Given the description of an element on the screen output the (x, y) to click on. 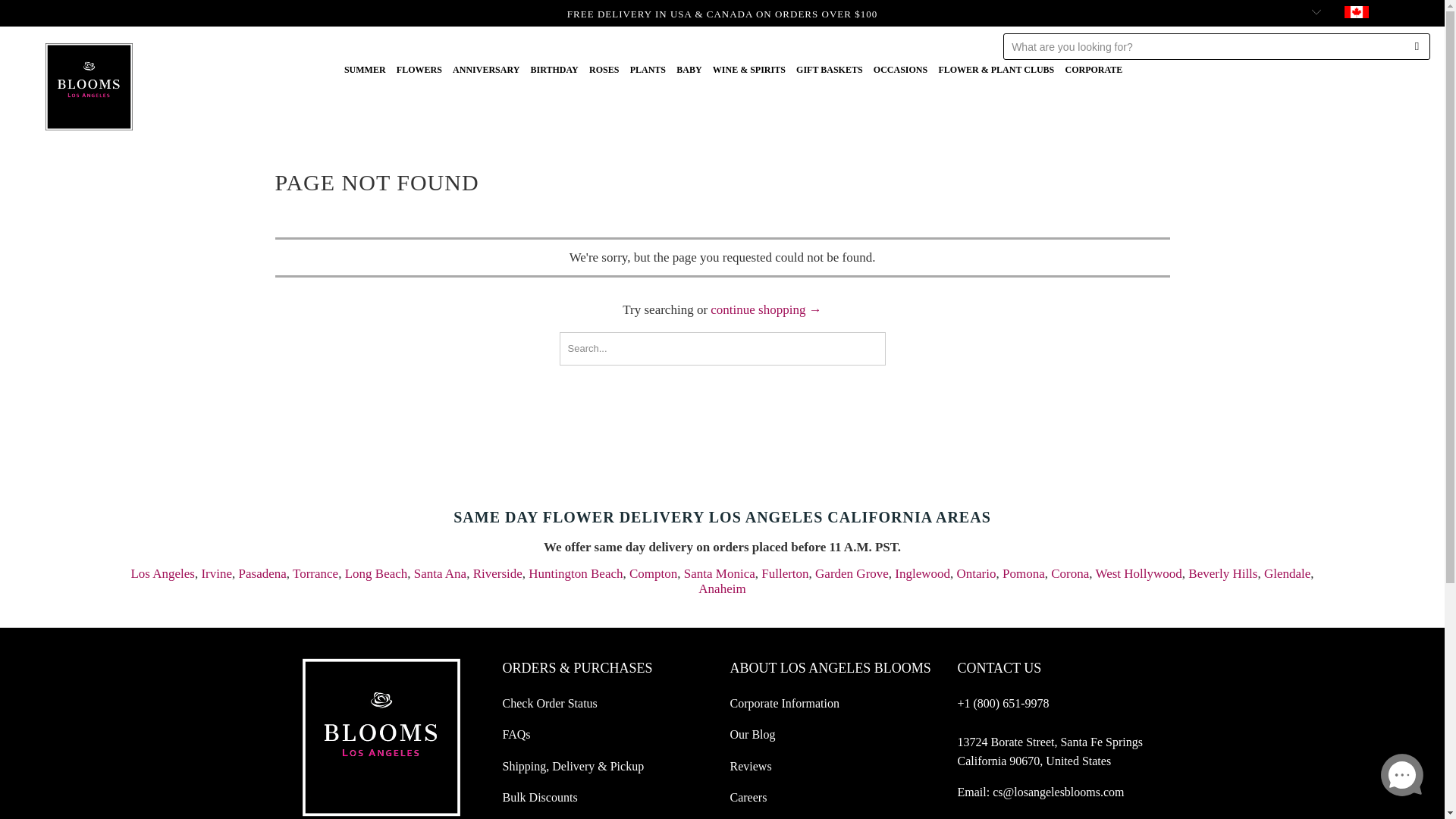
Los Angeles Blooms (88, 6)
